Given the description of an element on the screen output the (x, y) to click on. 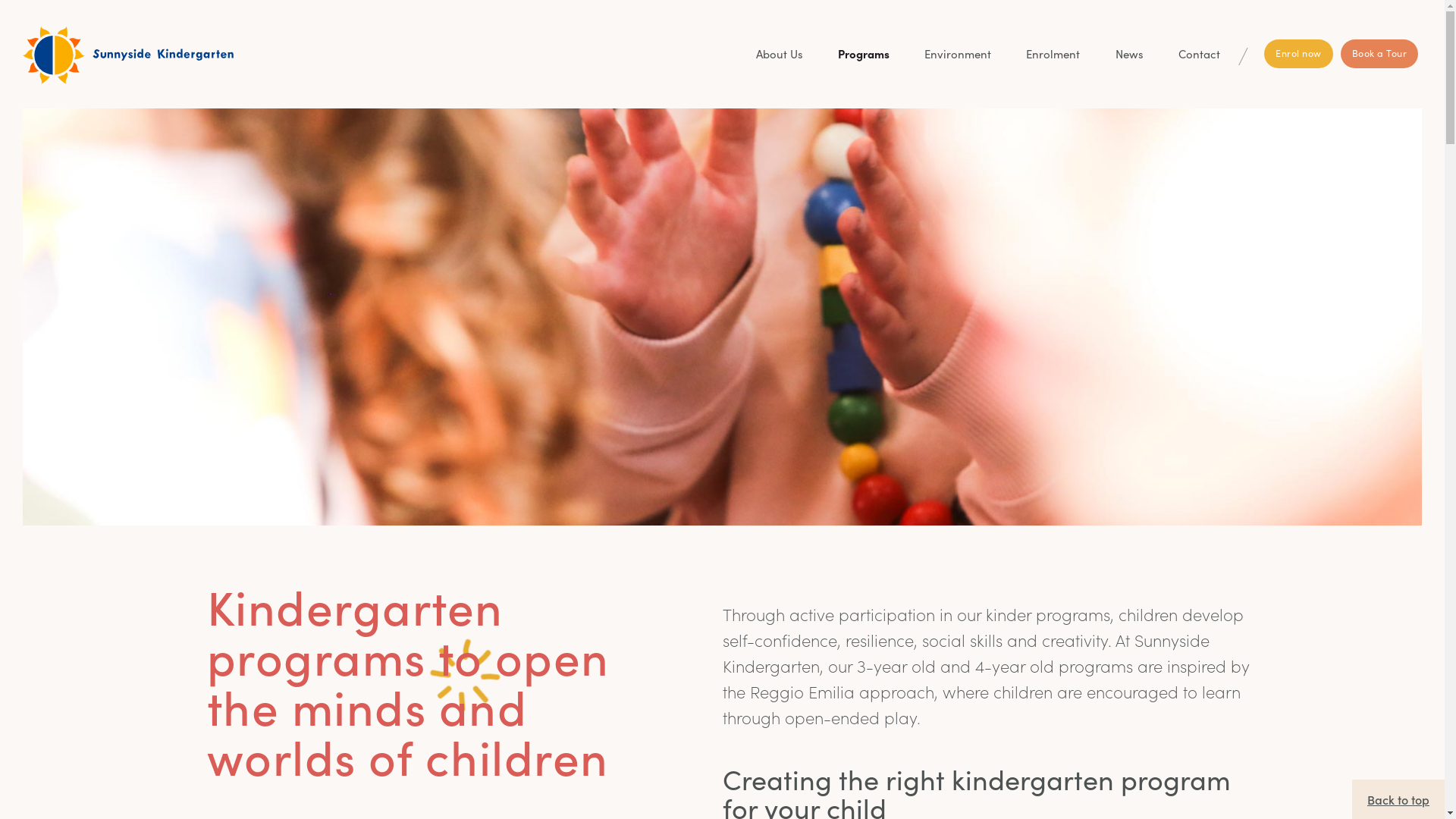
About Us Element type: text (779, 53)
Contact Element type: text (1199, 53)
Enrolment Element type: text (1052, 53)
Enrol now Element type: text (1298, 53)
Book a Tour Element type: text (1379, 53)
Programs Element type: text (863, 53)
News Element type: text (1129, 53)
Back to top Element type: text (1398, 798)
Environment Element type: text (957, 53)
